Given the description of an element on the screen output the (x, y) to click on. 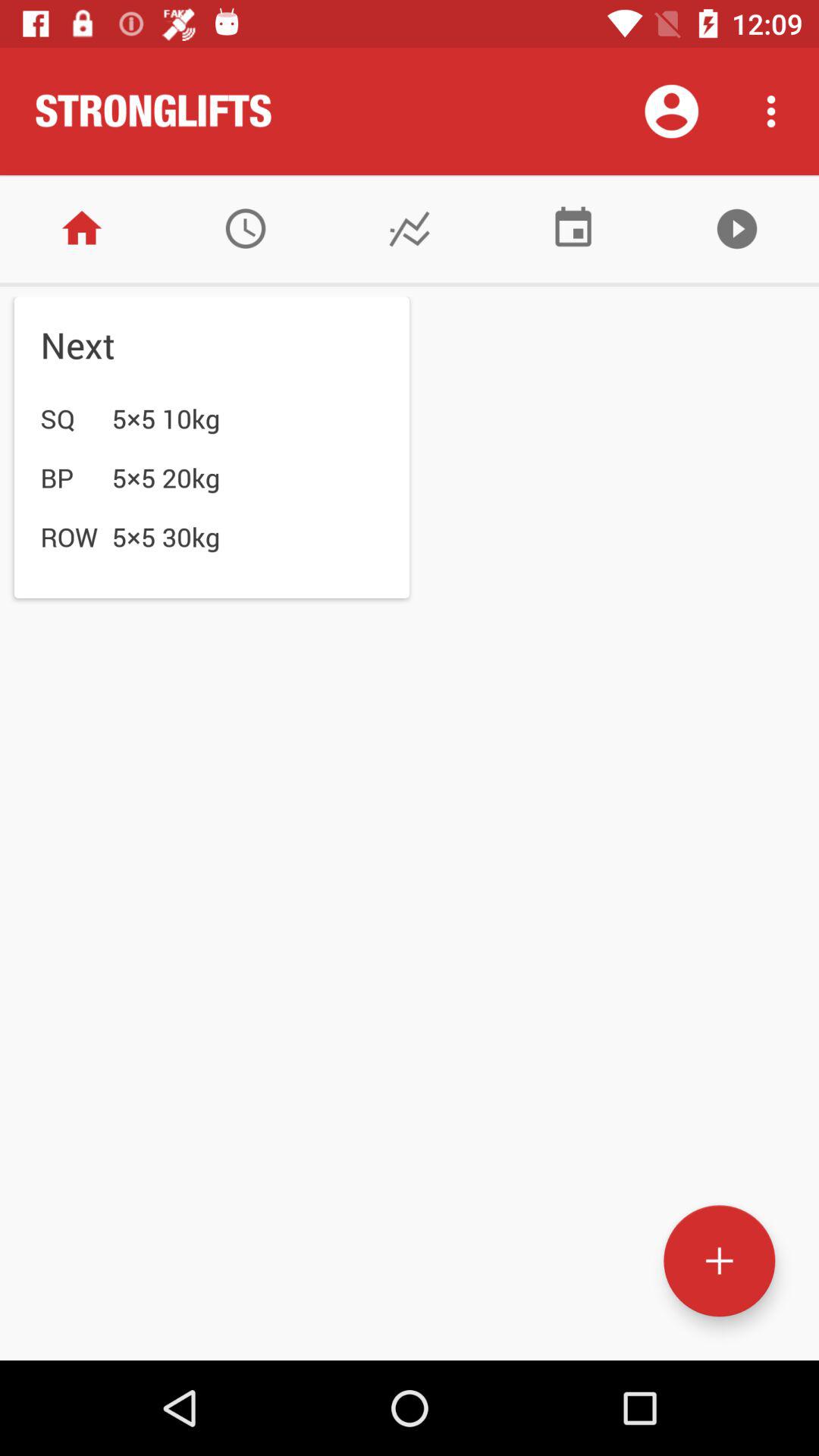
show calendar (573, 228)
